Given the description of an element on the screen output the (x, y) to click on. 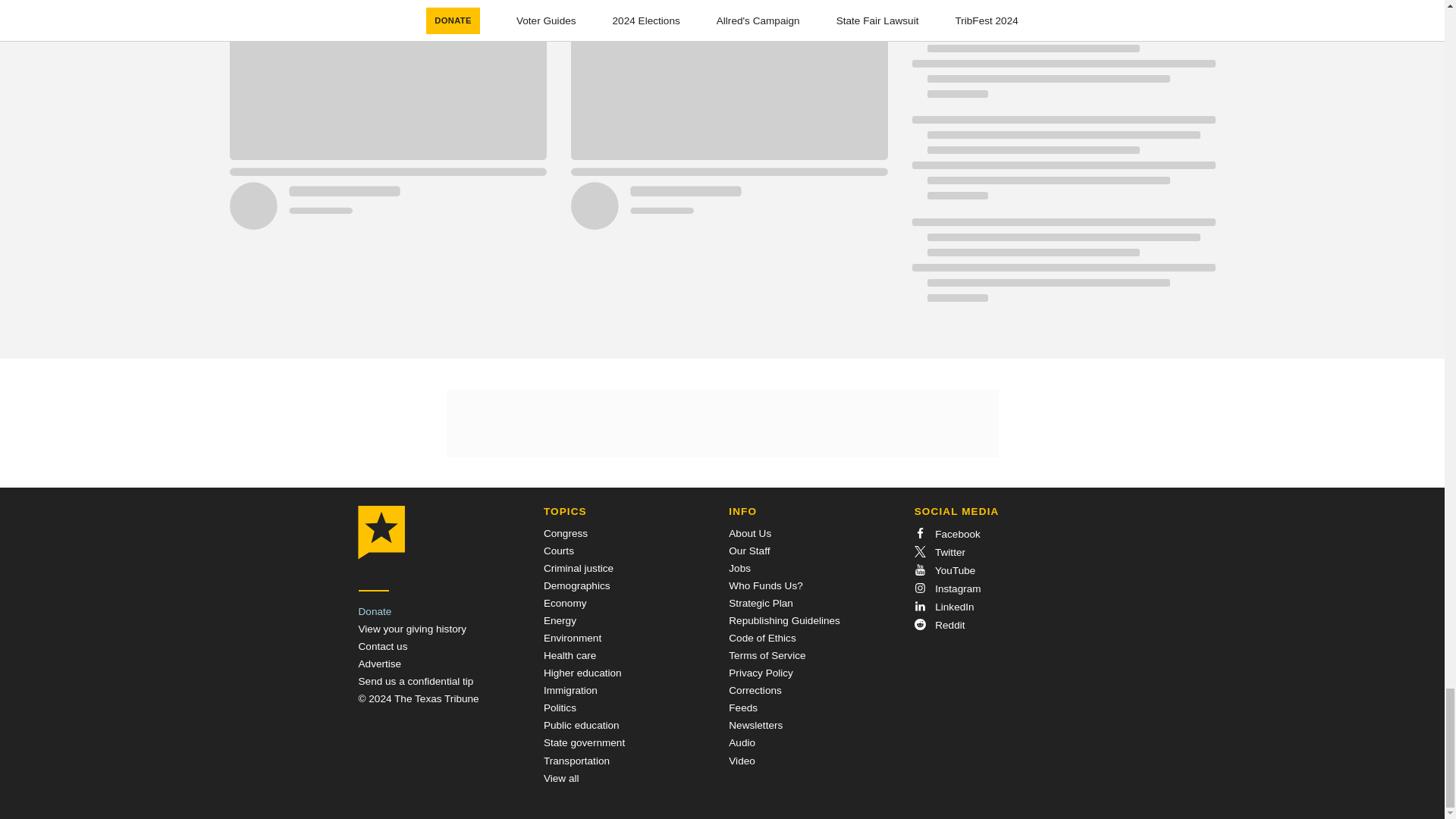
Send a Tip (415, 681)
Contact us (382, 645)
Code of Ethics (761, 637)
Video (742, 760)
Terms of Service (767, 655)
Donate (374, 611)
Who Funds Us? (765, 585)
Republishing Guidelines (784, 620)
Loading indicator (1062, 165)
Loading indicator (1062, 63)
